Given the description of an element on the screen output the (x, y) to click on. 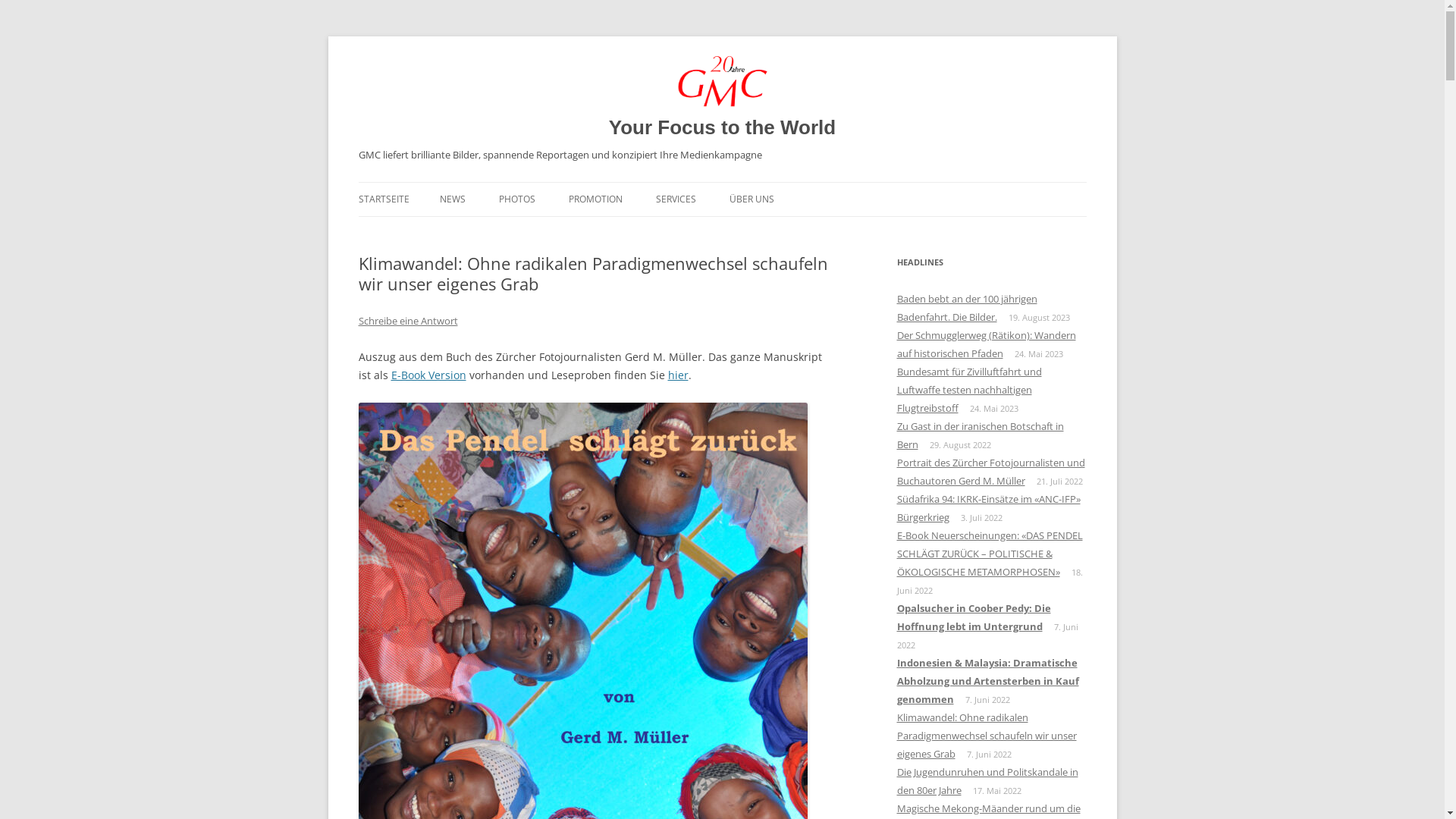
Die Jugendunruhen und Politskandale in den 80er Jahre Element type: text (986, 781)
ALL-IN-ONE-ANGEBOT Element type: text (644, 231)
DESIGN Element type: text (730, 231)
PROMOTION Element type: text (595, 199)
Zu Gast in der iranischen Botschaft in Bern Element type: text (979, 435)
STARTSEITE Element type: text (382, 199)
hier Element type: text (677, 374)
NEWS Element type: text (452, 199)
ALLE BILDERSTRECKEN Element type: text (574, 231)
Schreibe eine Antwort Element type: text (407, 320)
SERVICES Element type: text (675, 199)
AKTUELL Element type: text (515, 231)
Your Focus to the World Element type: text (721, 127)
PHOTOS Element type: text (516, 199)
E-Book Version Element type: text (428, 374)
Zum Inhalt springen Element type: text (721, 182)
Opalsucher in Coober Pedy: Die Hoffnung lebt im Untergrund Element type: text (973, 617)
